Given the description of an element on the screen output the (x, y) to click on. 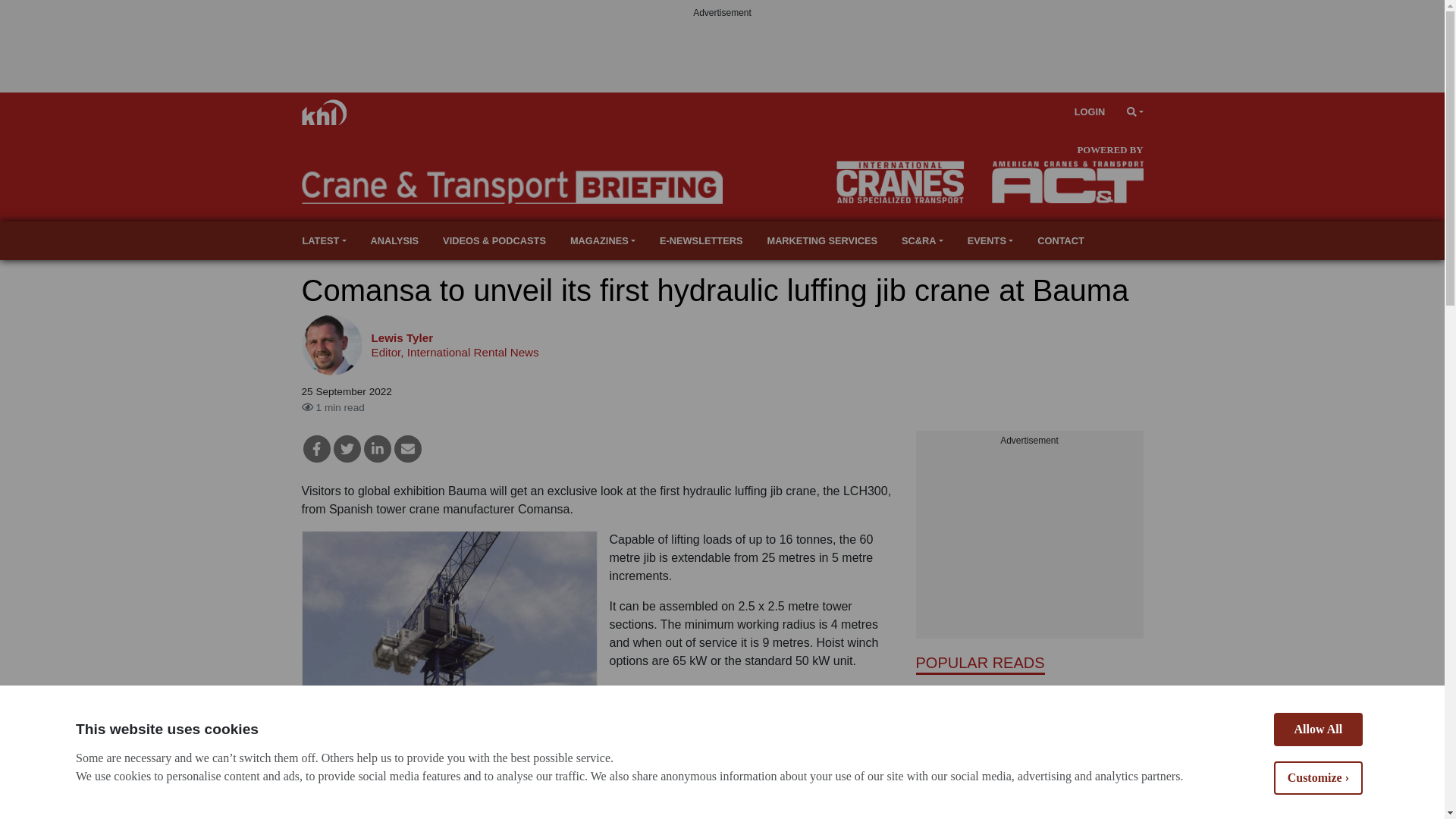
Allow All (1318, 805)
Share this page via email (408, 448)
Share this page on Facebook (316, 448)
3rd party ad content (1028, 543)
3rd party ad content (721, 55)
Share this page on Linkedin (377, 448)
Share this page on Twitter (347, 448)
